Given the description of an element on the screen output the (x, y) to click on. 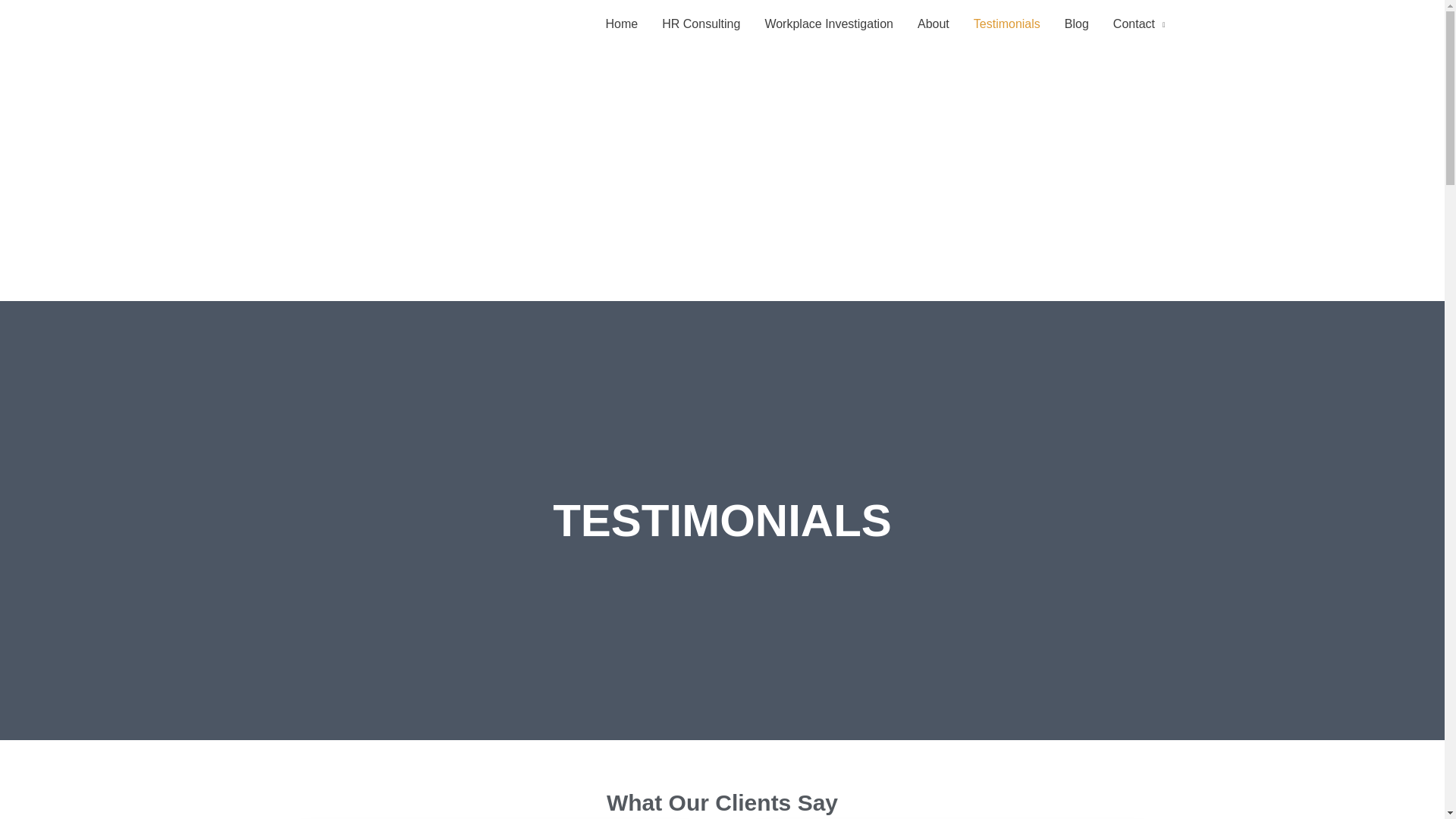
Contact (1138, 24)
Home (622, 24)
About (932, 24)
Workplace Investigation (828, 24)
Testimonials (1006, 24)
Blog (1076, 24)
HR Consulting (700, 24)
